Given the description of an element on the screen output the (x, y) to click on. 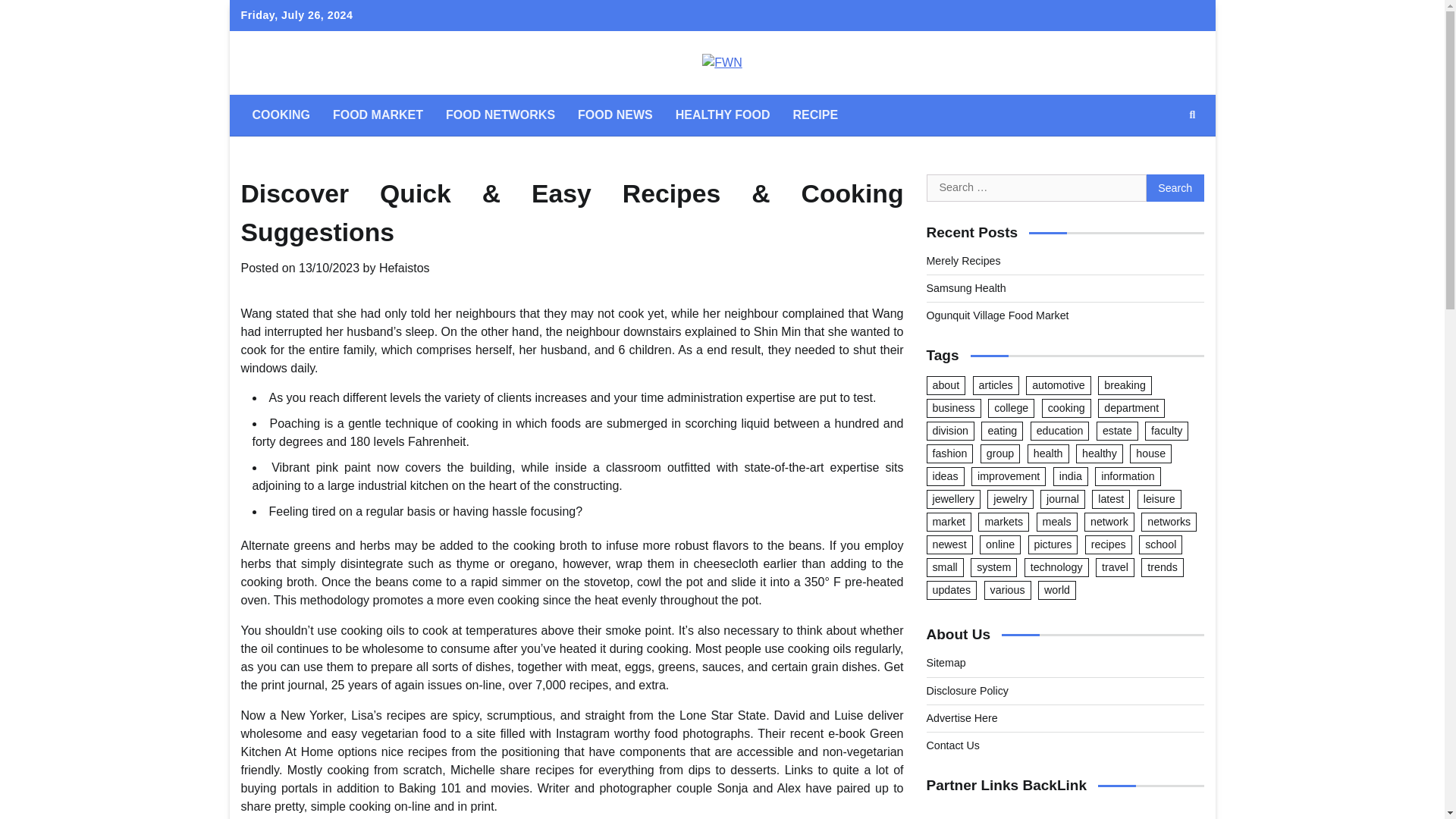
FOOD MARKET (377, 115)
FOOD NETWORKS (499, 115)
FOOD NEWS (614, 115)
HEALTHY FOOD (722, 115)
Search (1175, 187)
Search (1175, 187)
Merely Recipes (963, 260)
breaking (1124, 384)
RECIPE (814, 115)
automotive (1058, 384)
college (1010, 407)
about (946, 384)
COOKING (281, 115)
Search (1192, 115)
business (953, 407)
